Given the description of an element on the screen output the (x, y) to click on. 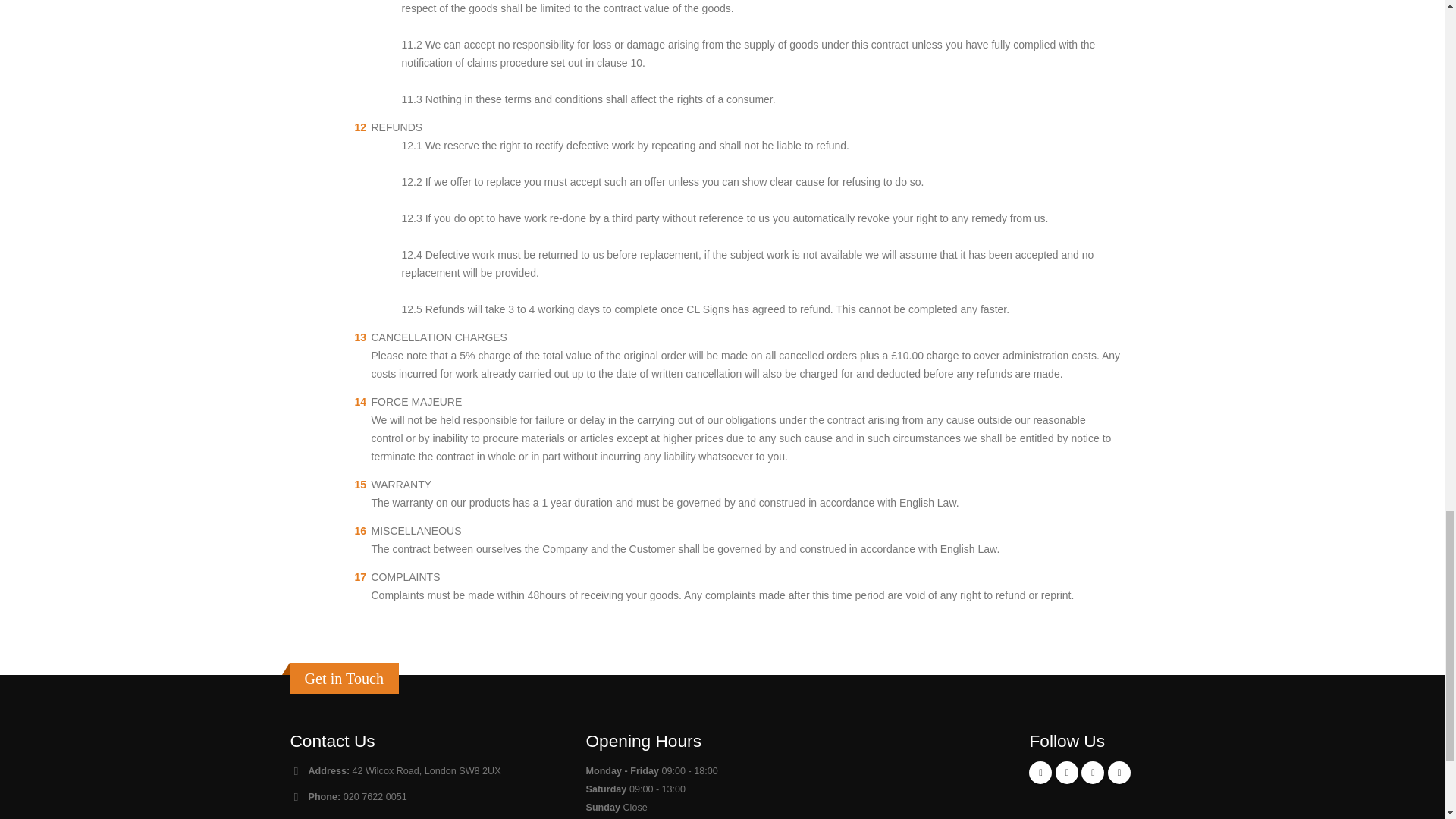
Facebook (1040, 772)
Instagram (1066, 772)
Twitter (1092, 772)
YouTube (1119, 772)
